Given the description of an element on the screen output the (x, y) to click on. 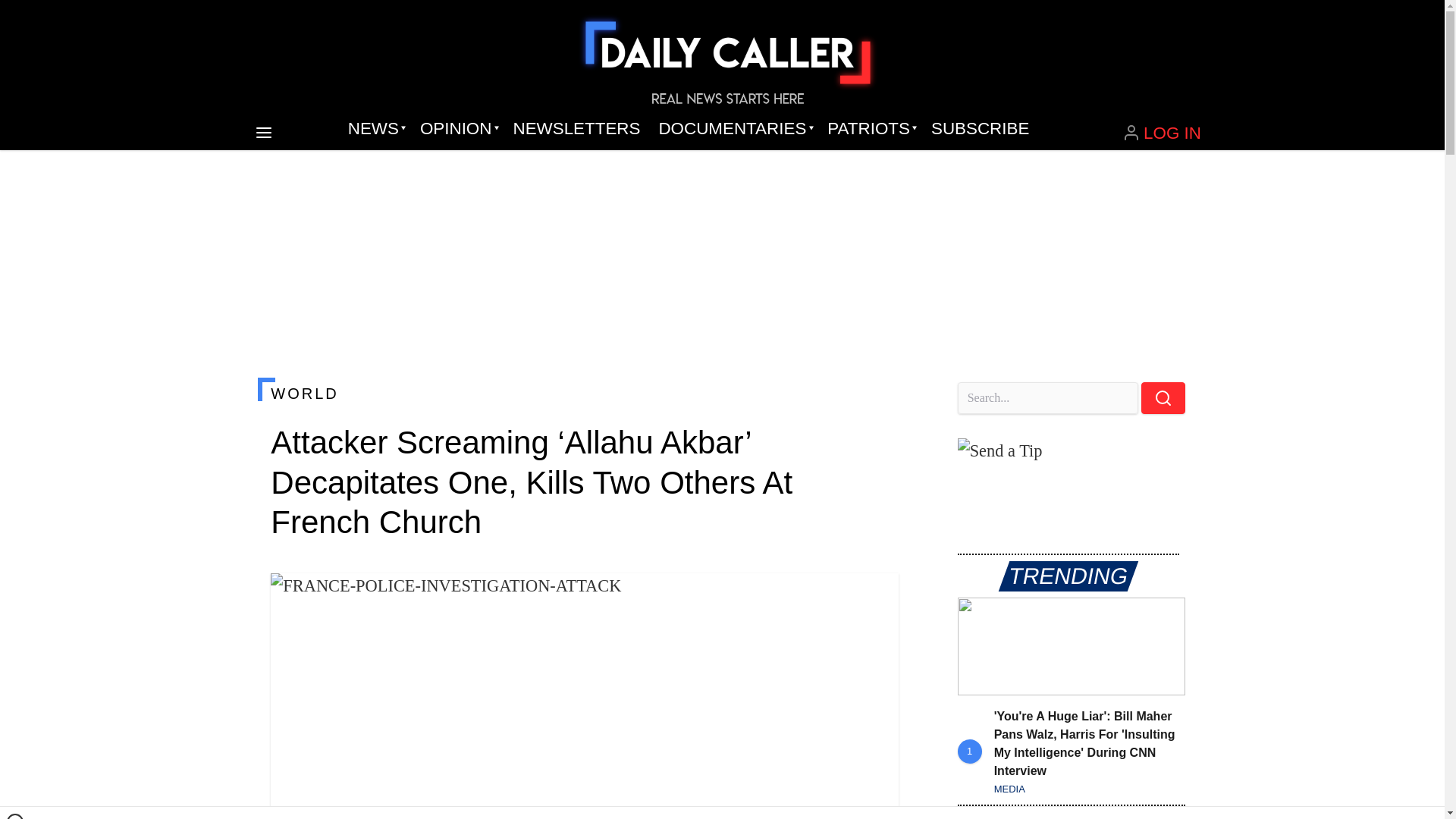
Close window (14, 816)
SUBSCRIBE (979, 128)
NEWSLETTERS (576, 128)
NEWS (374, 128)
PATRIOTS (869, 128)
DOCUMENTARIES (733, 128)
OPINION (456, 128)
WORLD (584, 393)
